Given the description of an element on the screen output the (x, y) to click on. 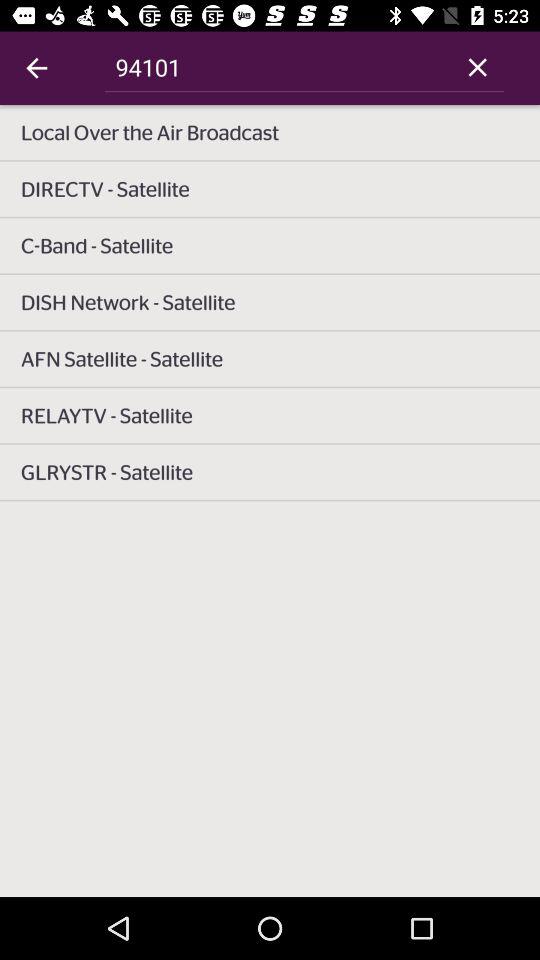
scroll until 94101 item (278, 67)
